Given the description of an element on the screen output the (x, y) to click on. 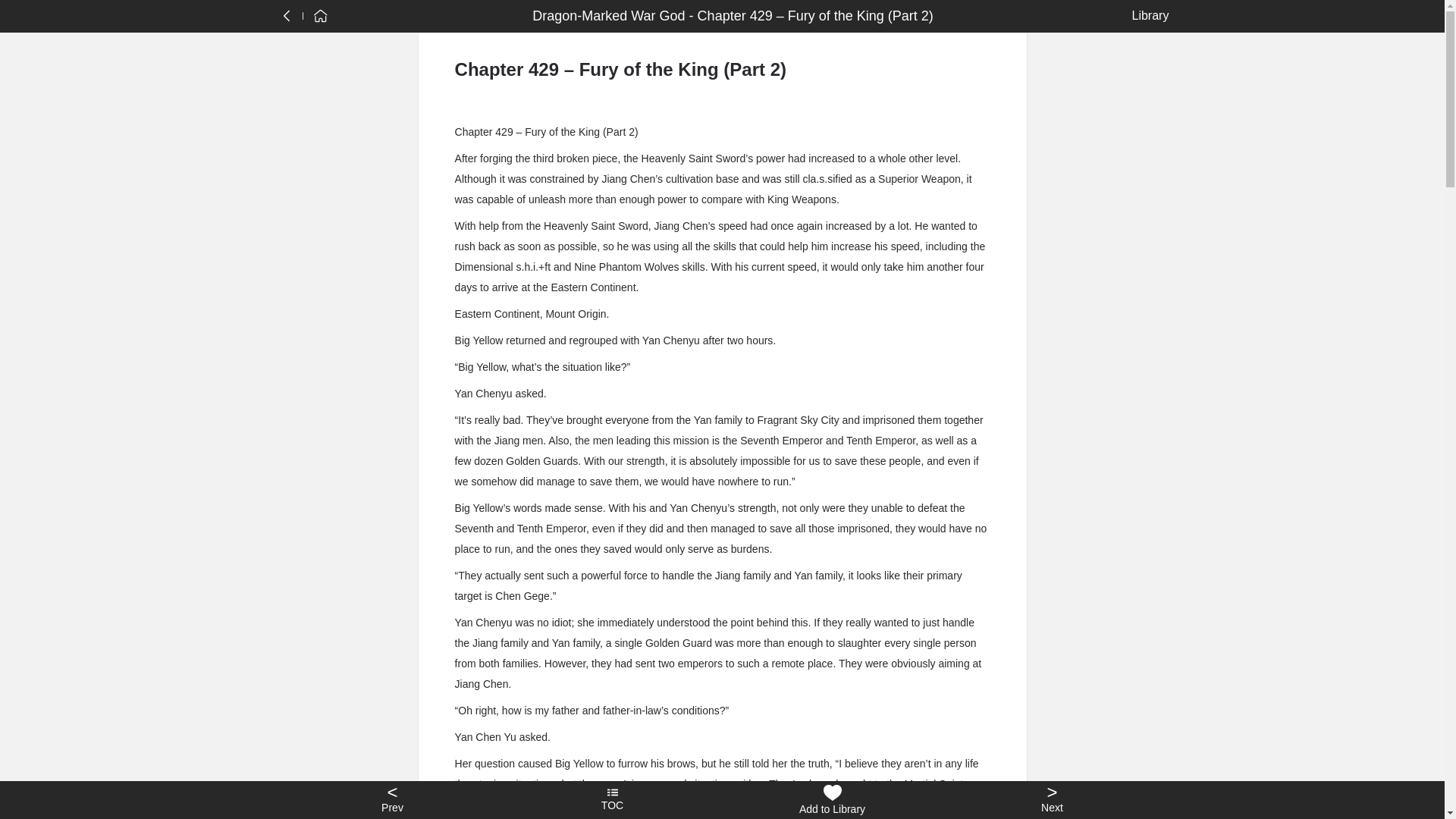
TOC (612, 800)
Library (1146, 15)
Add to Library (832, 800)
